Given the description of an element on the screen output the (x, y) to click on. 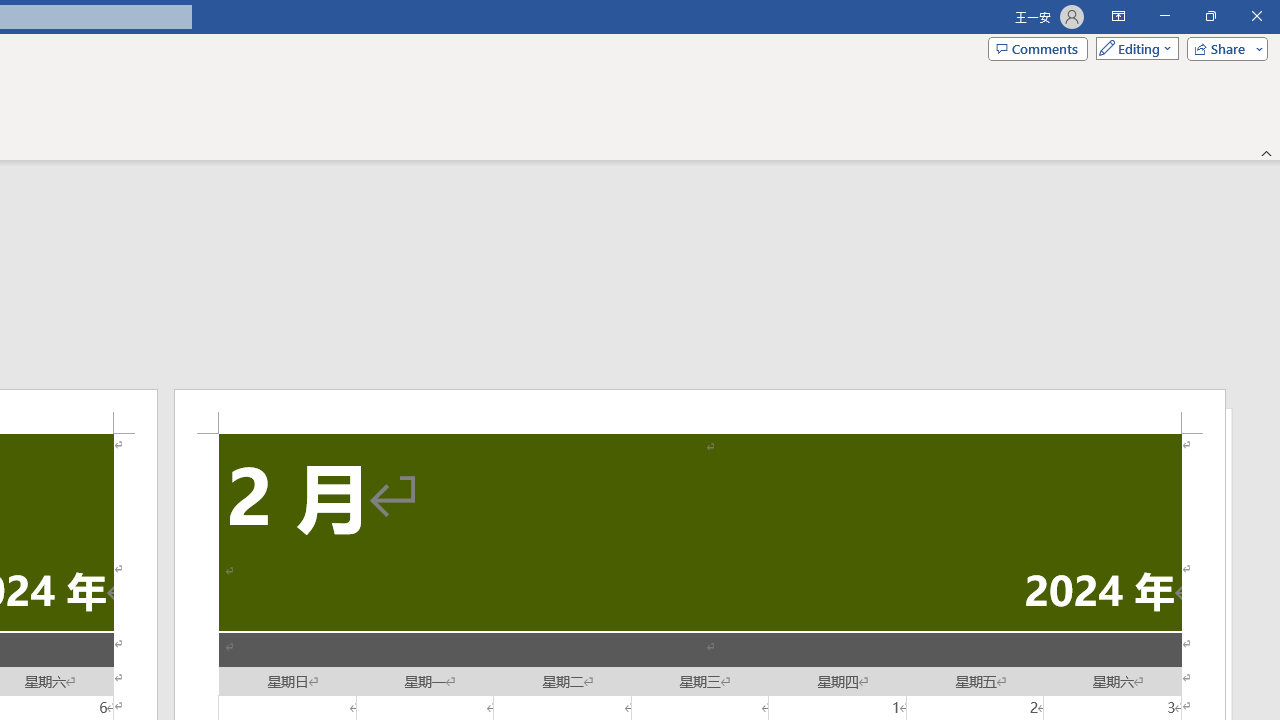
Header -Section 2- (700, 411)
Mode (1133, 47)
Close (1256, 16)
Collapse the Ribbon (1267, 152)
Ribbon Display Options (1118, 16)
Share (1223, 48)
Restore Down (1210, 16)
Comments (1038, 48)
Minimize (1164, 16)
